Given the description of an element on the screen output the (x, y) to click on. 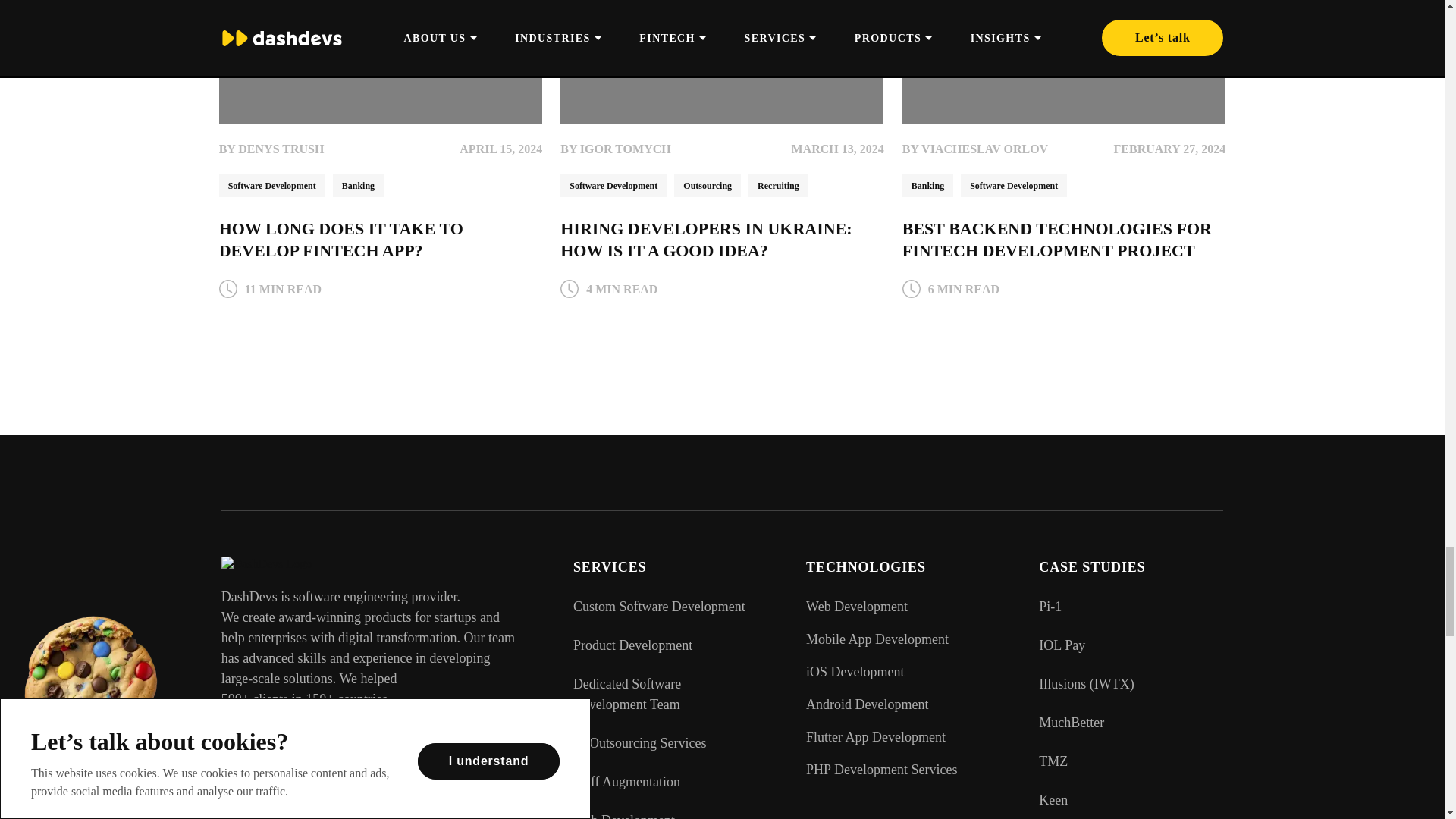
How Long Does It Take to Develop Fintech App? (380, 61)
Best Backend Technologies For Fintech Development Project (1063, 61)
Hiring Developers in Ukraine: How It It a Good Idea? (721, 61)
